Given the description of an element on the screen output the (x, y) to click on. 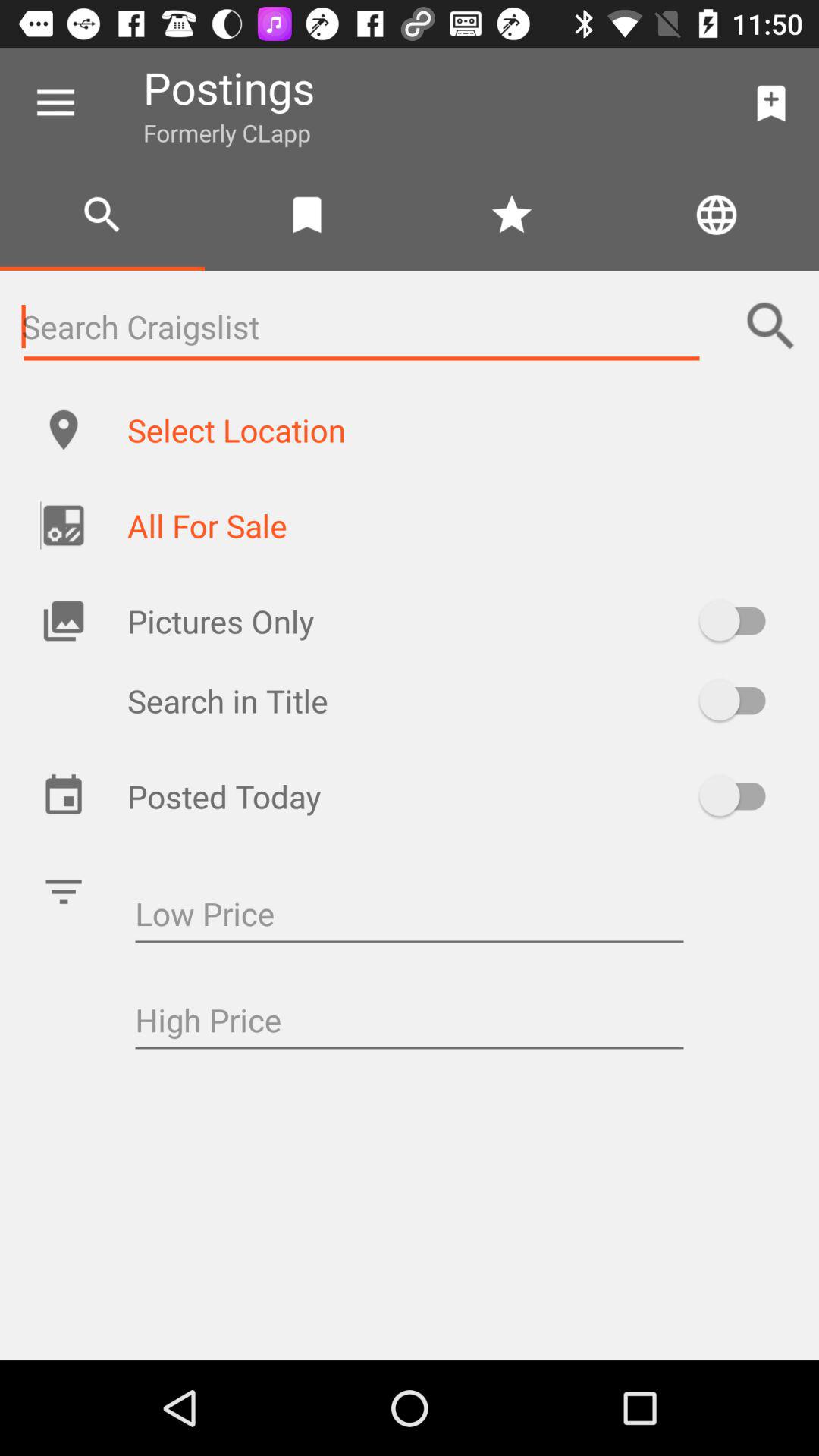
tap the item above the all for sale icon (457, 429)
